Given the description of an element on the screen output the (x, y) to click on. 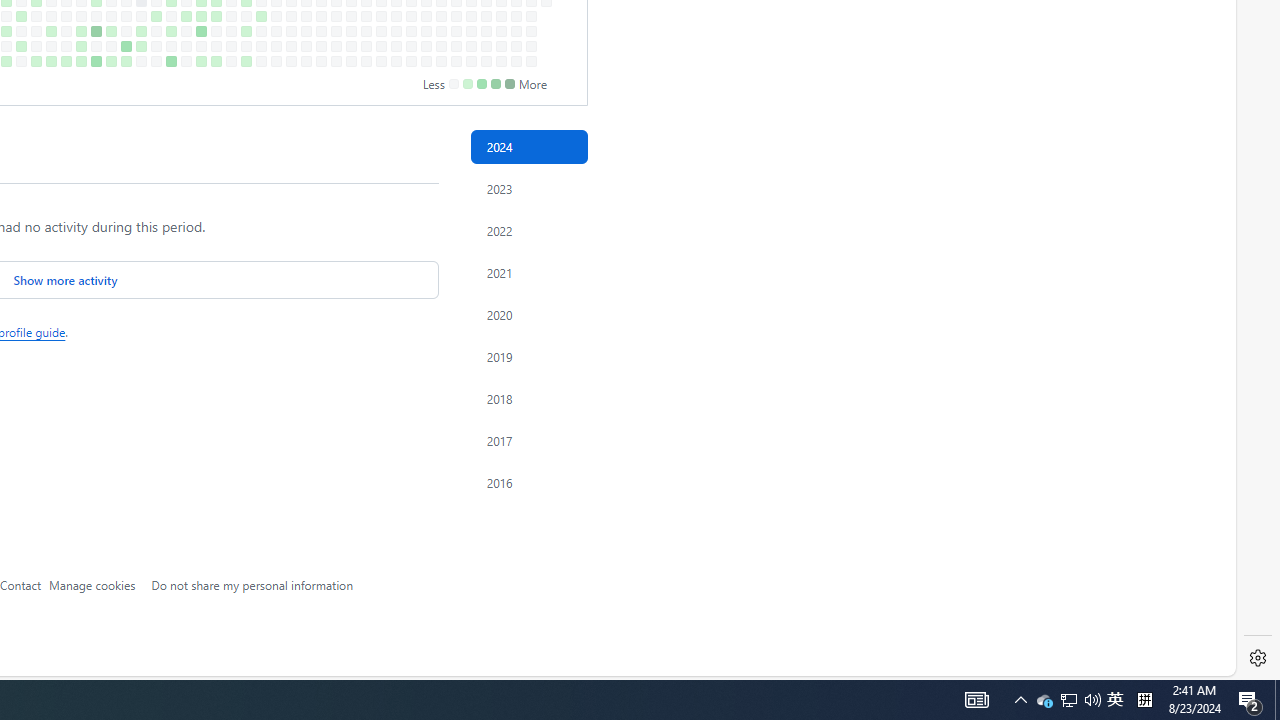
No contributions on November 9th. (426, 61)
2021 (528, 273)
Contribution activity in 2023 (528, 188)
No contributions on October 26th. (395, 61)
Contribution activity in 2019 (528, 356)
No contributions on December 7th. (486, 61)
No contributions on October 5th. (351, 61)
Manage cookies (91, 584)
No contributions on August 24th. (261, 61)
2023 (528, 188)
2022 (528, 230)
Contribution activity in 2022 (528, 230)
Contribution activity in 2017 (528, 440)
1 contribution on August 17th. (246, 61)
No contributions on June 29th. (141, 61)
